Given the description of an element on the screen output the (x, y) to click on. 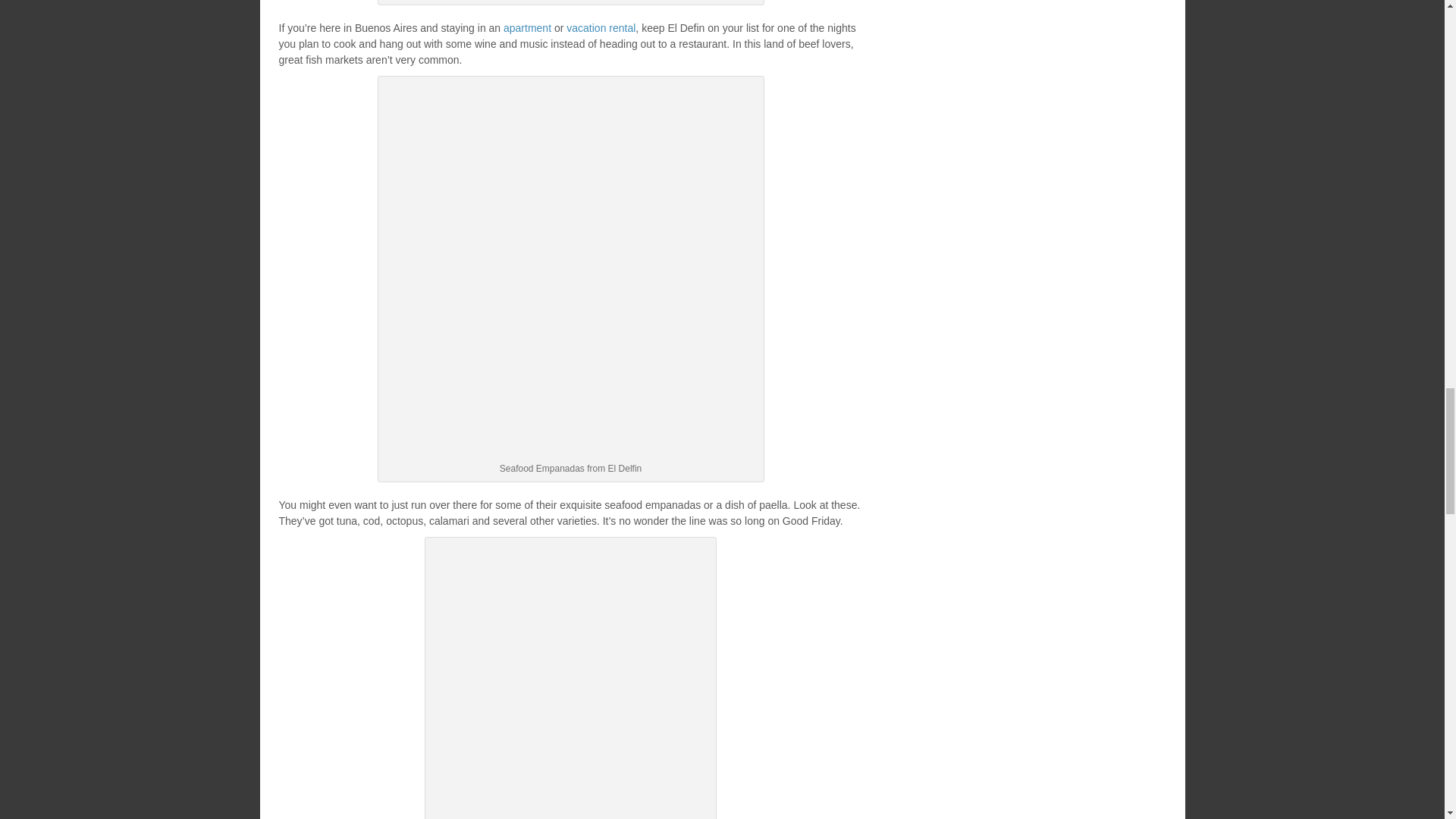
Pescaderia El Delfin (570, 681)
vacation rental (600, 28)
The Pad (600, 28)
The Loft (527, 28)
apartment (527, 28)
